Given the description of an element on the screen output the (x, y) to click on. 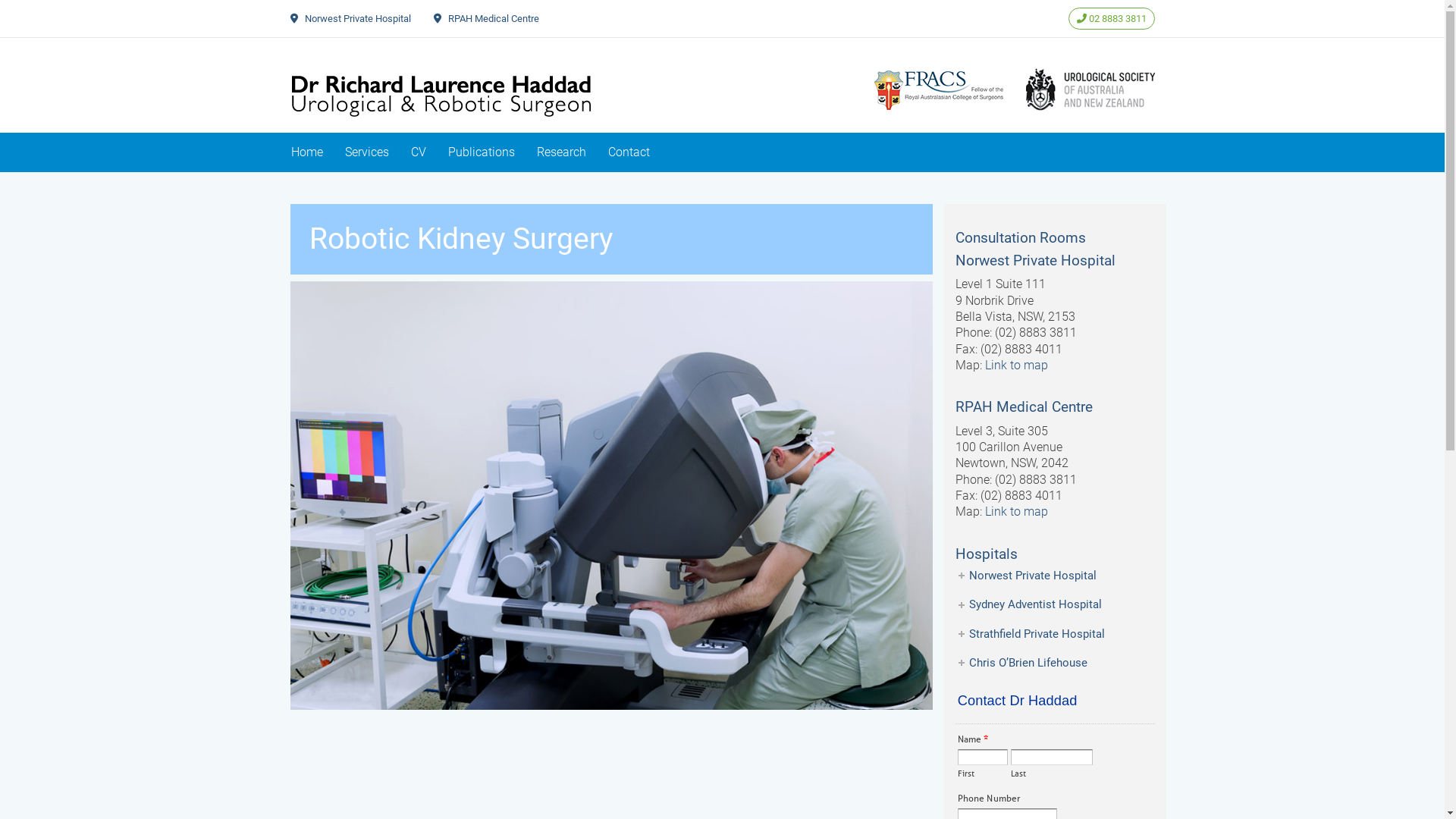
Services Element type: text (366, 152)
Norwest Private Hospital Element type: text (357, 18)
Research Element type: text (561, 152)
Link to map Element type: text (1016, 511)
CV Element type: text (418, 152)
Home Element type: text (307, 152)
02 8883 3811 Element type: text (1110, 18)
RPAH Medical Centre Element type: text (492, 18)
Publications Element type: text (480, 152)
Robotic-Kidney-Surgery-header Element type: hover (610, 495)
Link to map Element type: text (1016, 364)
Contact Element type: text (628, 152)
